Given the description of an element on the screen output the (x, y) to click on. 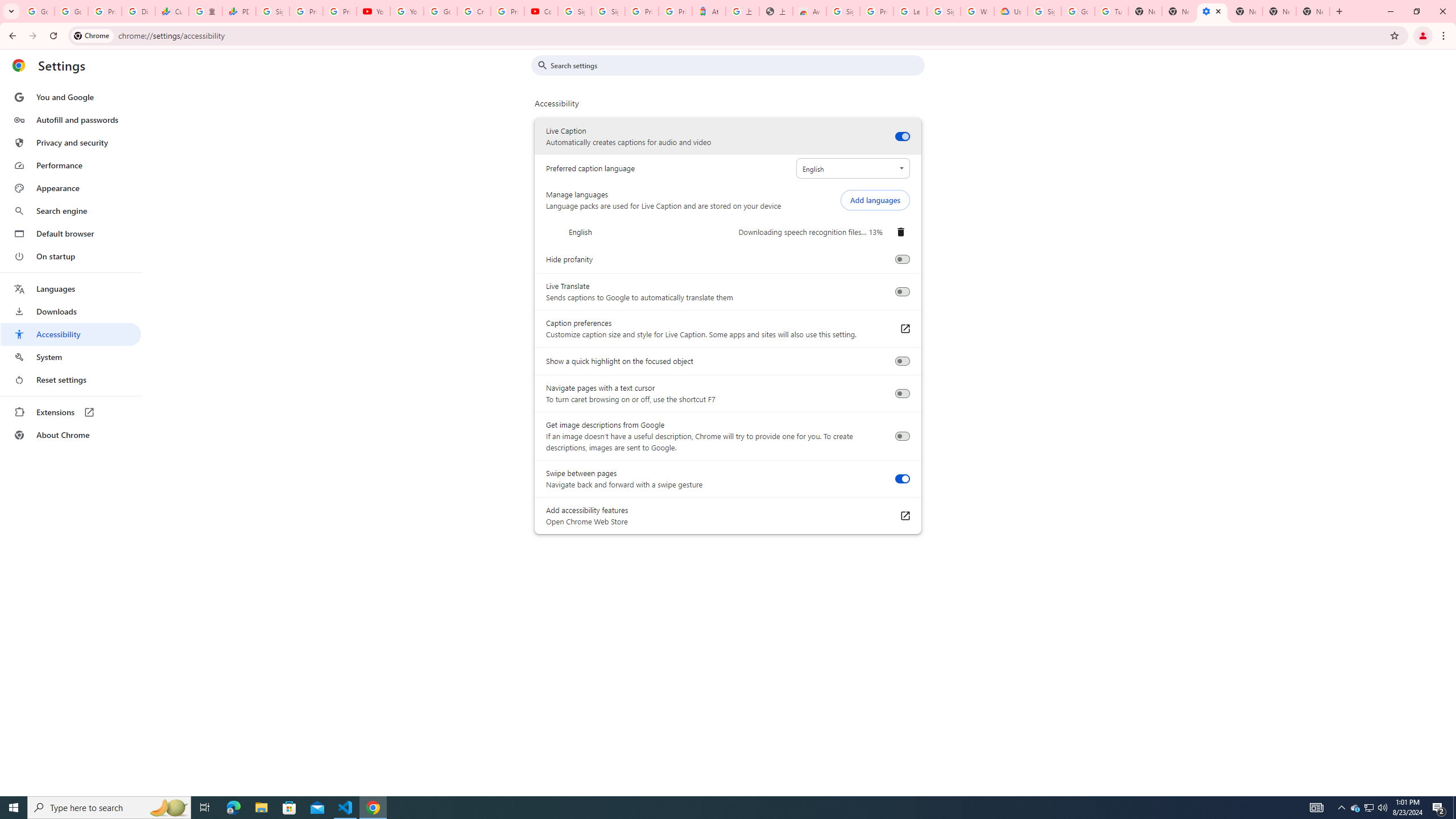
On startup (70, 255)
Autofill and passwords (70, 119)
Swipe between pages (901, 479)
Google Workspace Admin Community (37, 11)
Performance (70, 164)
Get image descriptions from Google (901, 436)
YouTube (406, 11)
Navigate pages with a text cursor (901, 393)
Reset settings (70, 379)
Default browser (70, 233)
